Given the description of an element on the screen output the (x, y) to click on. 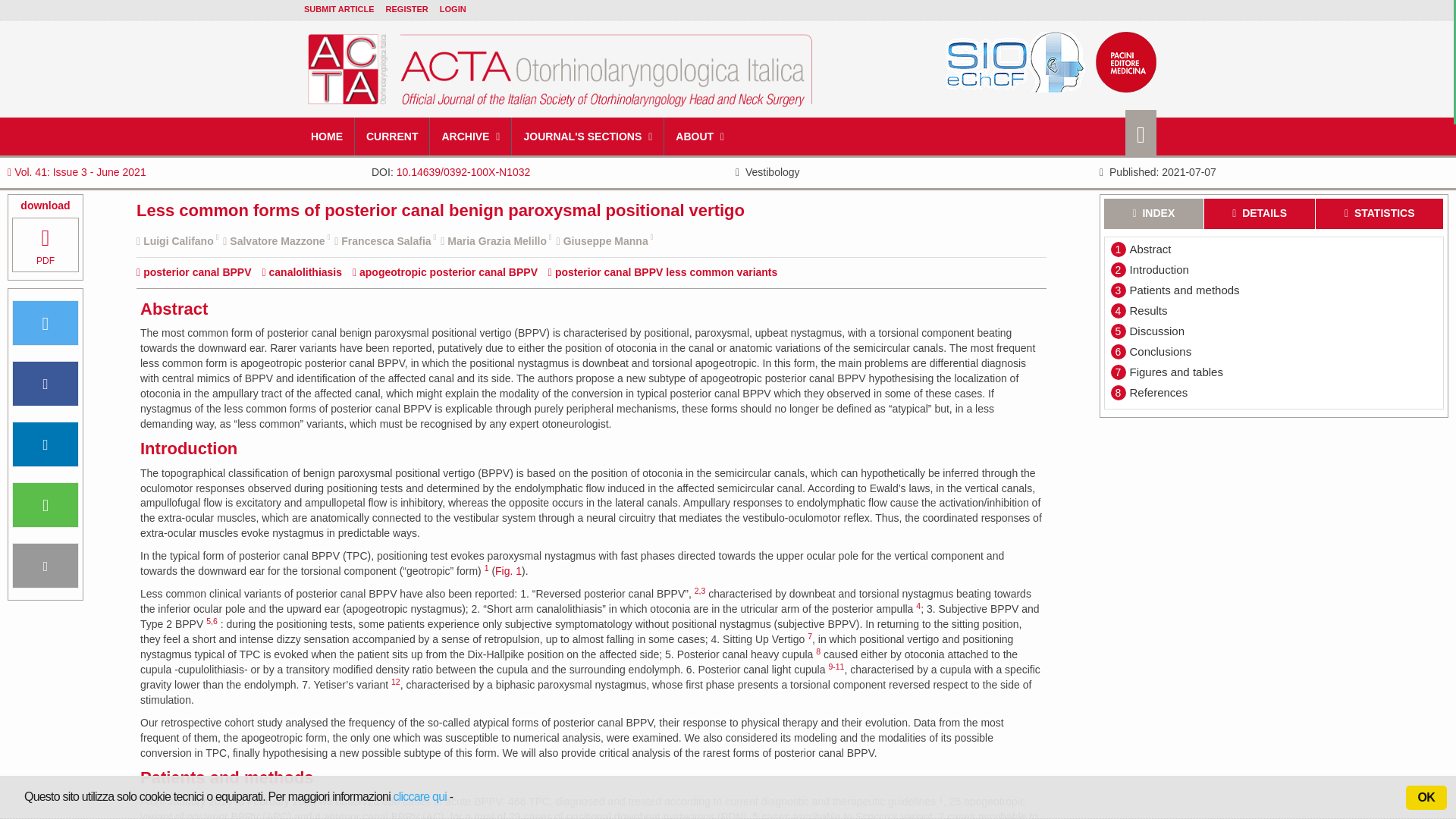
Per E-Mail versenden (45, 565)
ARCHIVE (470, 136)
Bei LinkedIn teilen (45, 444)
Bei Facebook teilen (45, 384)
Bei Whatsapp teilen (45, 505)
HOME (327, 136)
JOURNAL'S SECTIONS (587, 136)
CURRENT (392, 136)
cliccare qui (419, 796)
Bei Twitter teilen (45, 323)
SUBMIT ARTICLE (339, 8)
LOGIN (452, 8)
REGISTER (406, 8)
OK (1426, 797)
